Given the description of an element on the screen output the (x, y) to click on. 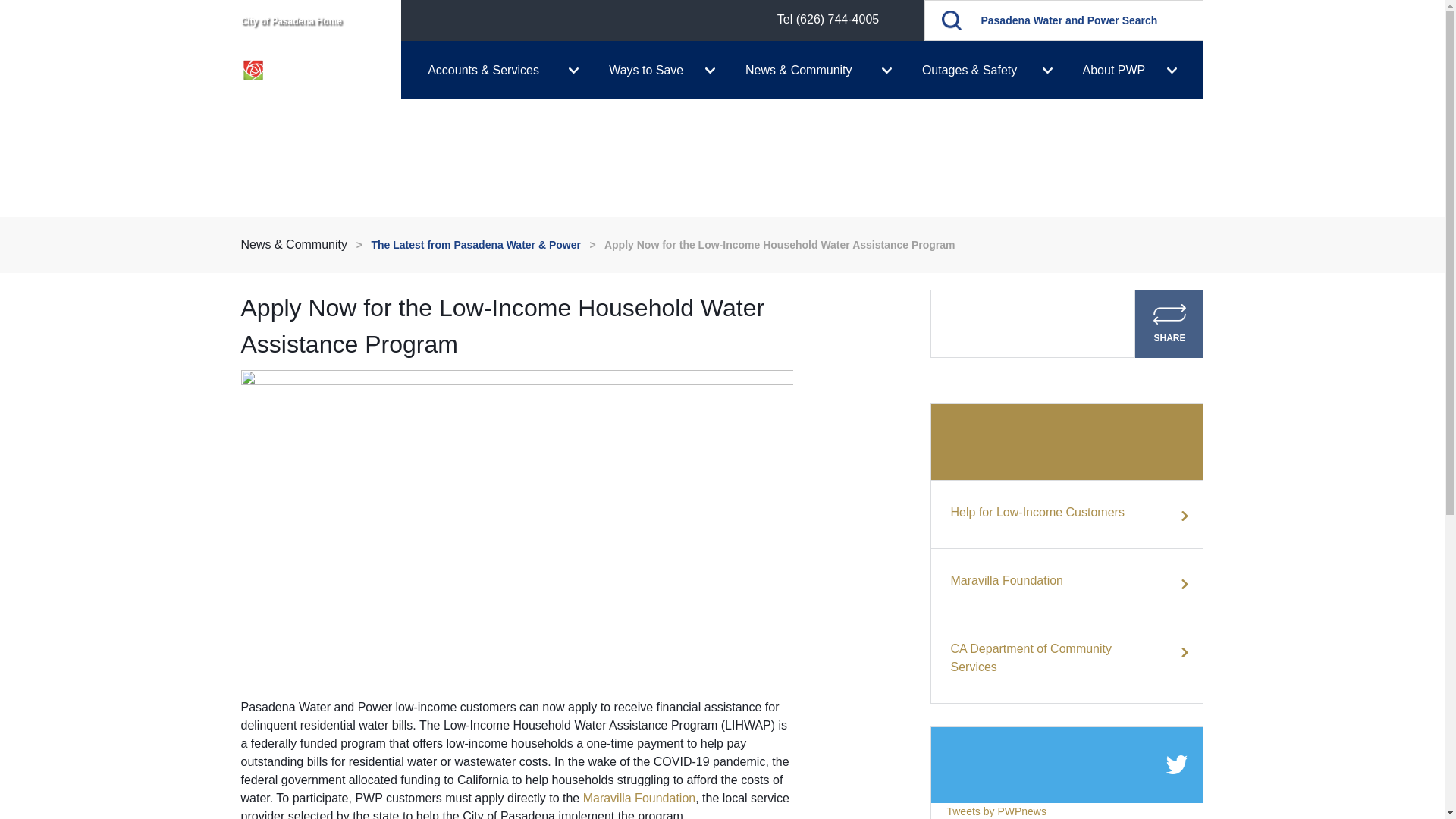
About PWP (1135, 69)
GO (951, 20)
City of Pasadena Home (291, 20)
Ways to Save (662, 69)
